Given the description of an element on the screen output the (x, y) to click on. 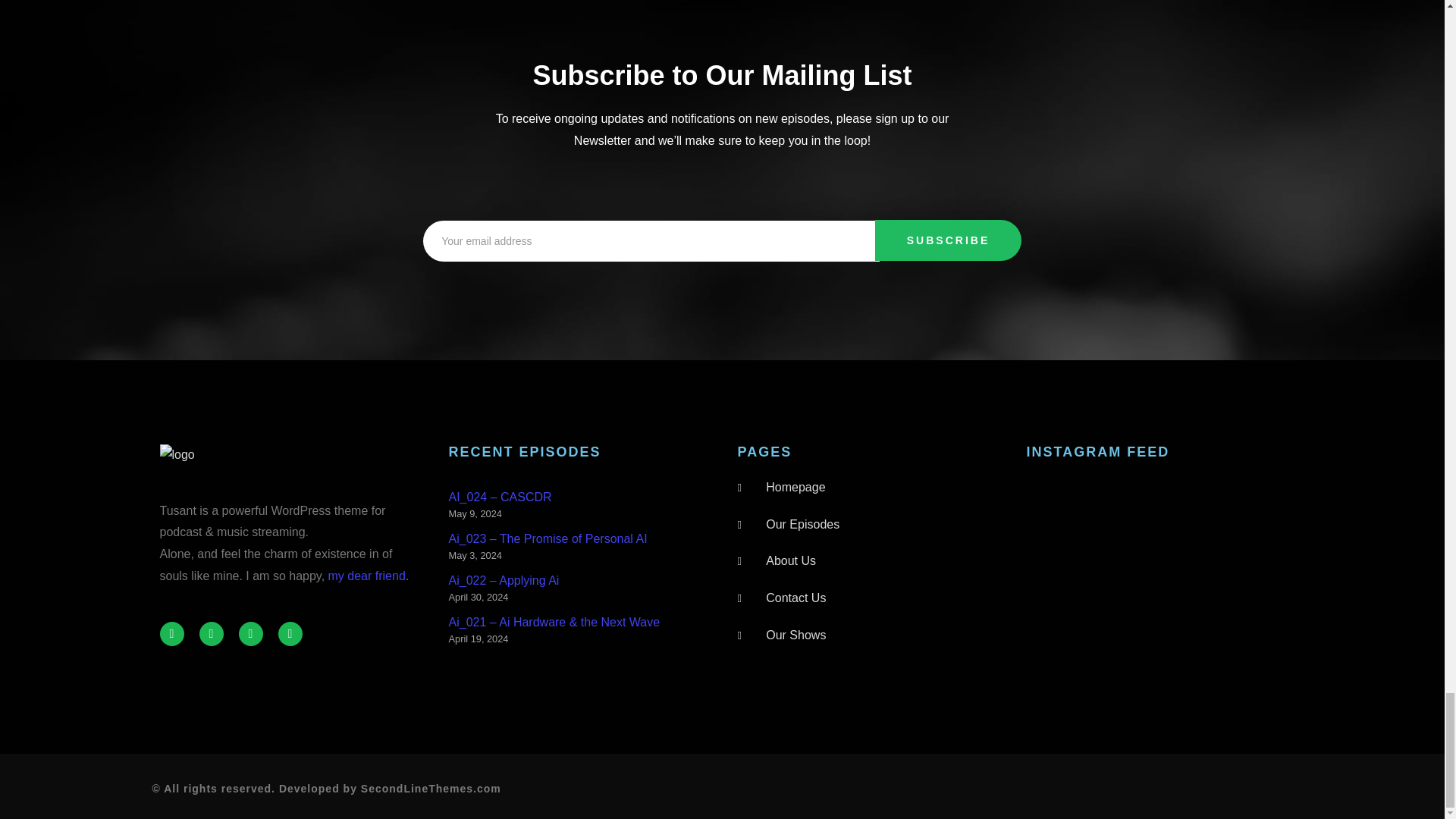
Subscribe (948, 240)
logo (175, 455)
